Given the description of an element on the screen output the (x, y) to click on. 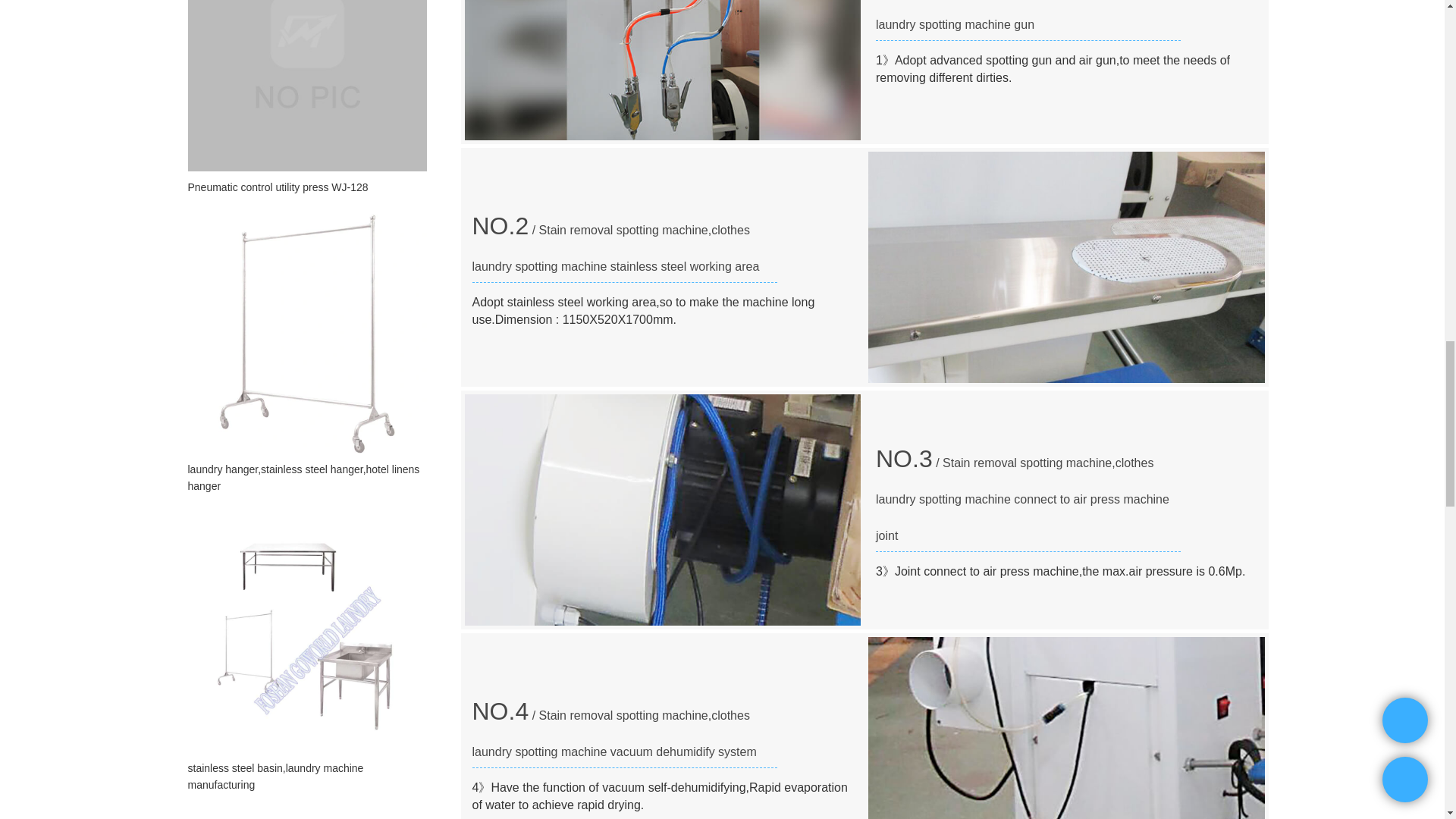
stainless steel basin,laundry machine manufacturing (306, 776)
laundry hanger,stainless steel hanger,hotel linens hanger (306, 477)
Pneumatic control utility press WJ-128 (306, 187)
